Given the description of an element on the screen output the (x, y) to click on. 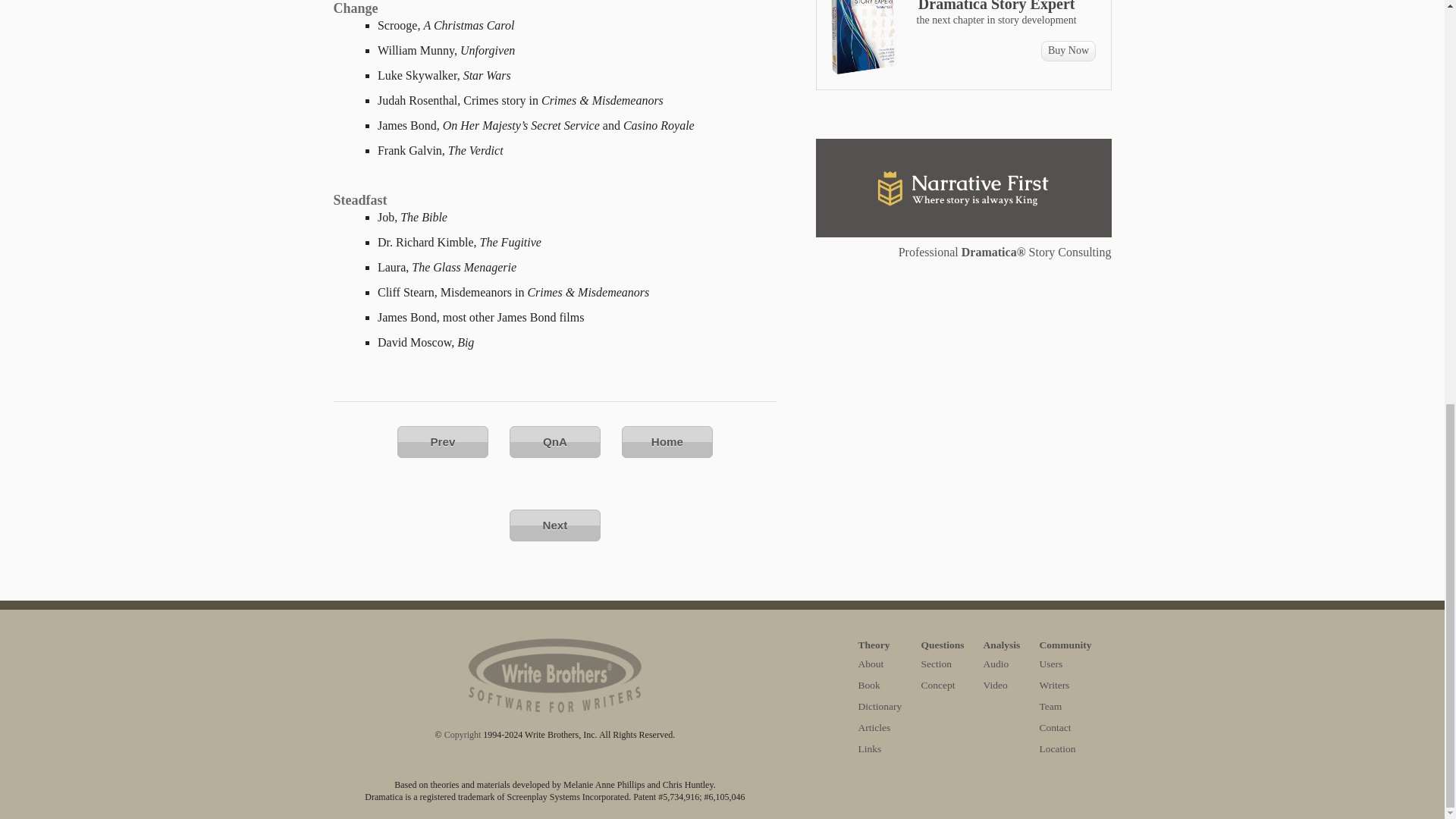
Dictionary (880, 706)
Articles (875, 727)
Next (554, 525)
Links (870, 747)
QnA (554, 441)
Copyright (462, 734)
About (871, 663)
Prev (442, 441)
Theory (880, 645)
Book (869, 685)
Home (667, 441)
Buy Now (1068, 50)
